Given the description of an element on the screen output the (x, y) to click on. 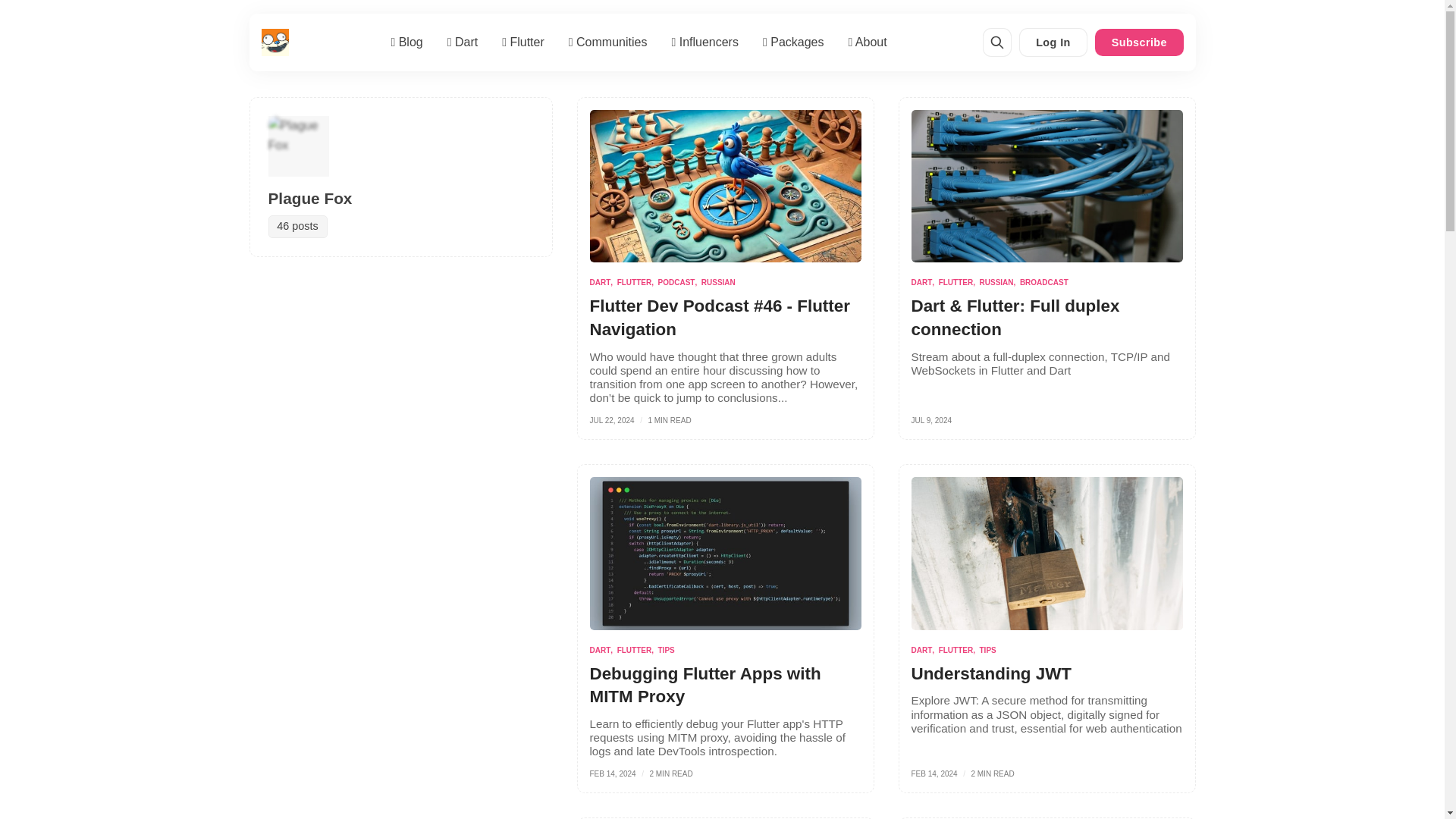
Log In (1053, 42)
Subscribe (1138, 42)
FLUTTER (959, 282)
FLUTTER (637, 282)
PODCAST (679, 282)
Search (997, 42)
DART (603, 282)
RUSSIAN (718, 282)
DART (925, 282)
